Given the description of an element on the screen output the (x, y) to click on. 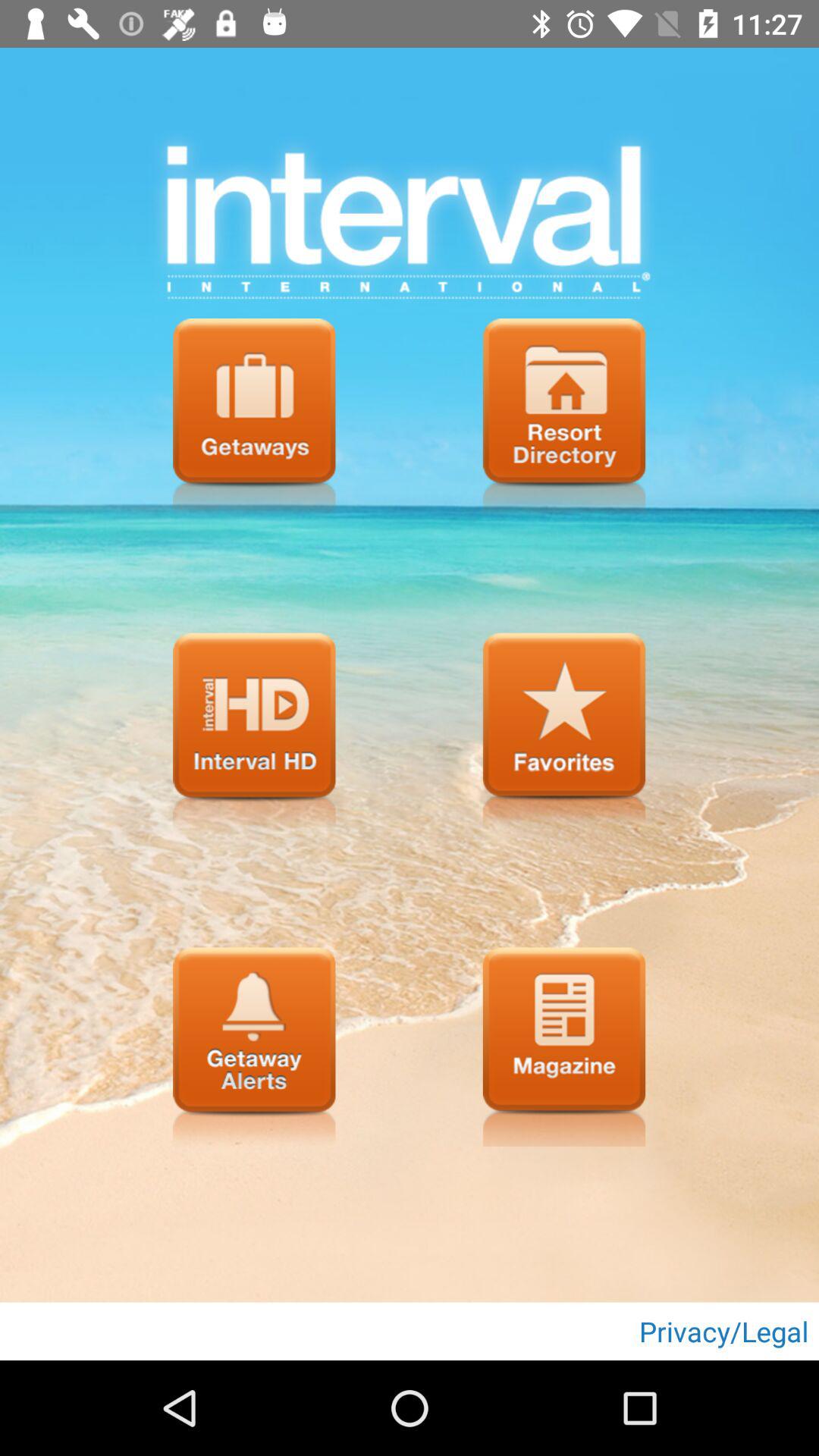
getaway alerts (253, 1046)
